Given the description of an element on the screen output the (x, y) to click on. 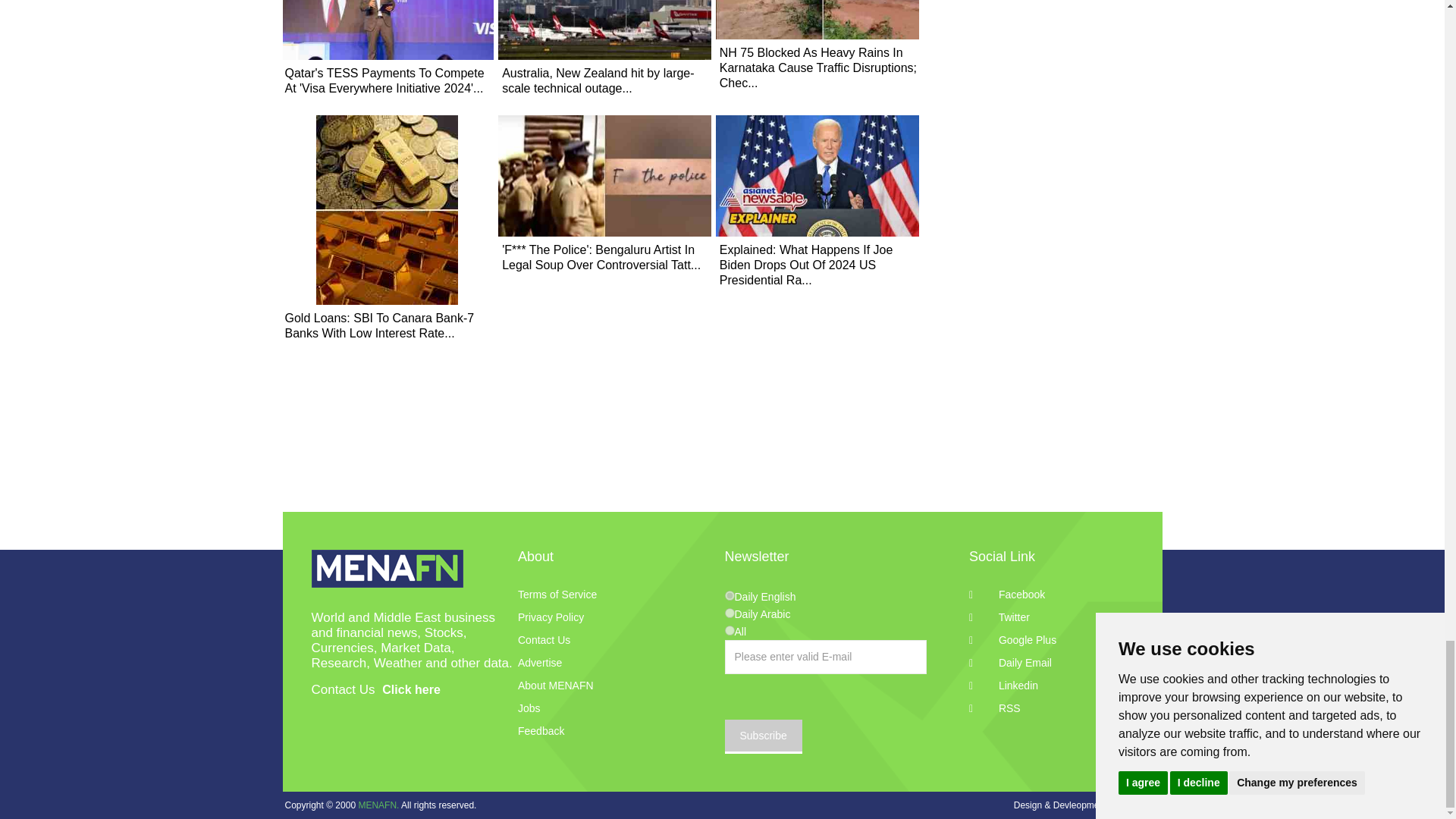
Subscribe (763, 736)
